Given the description of an element on the screen output the (x, y) to click on. 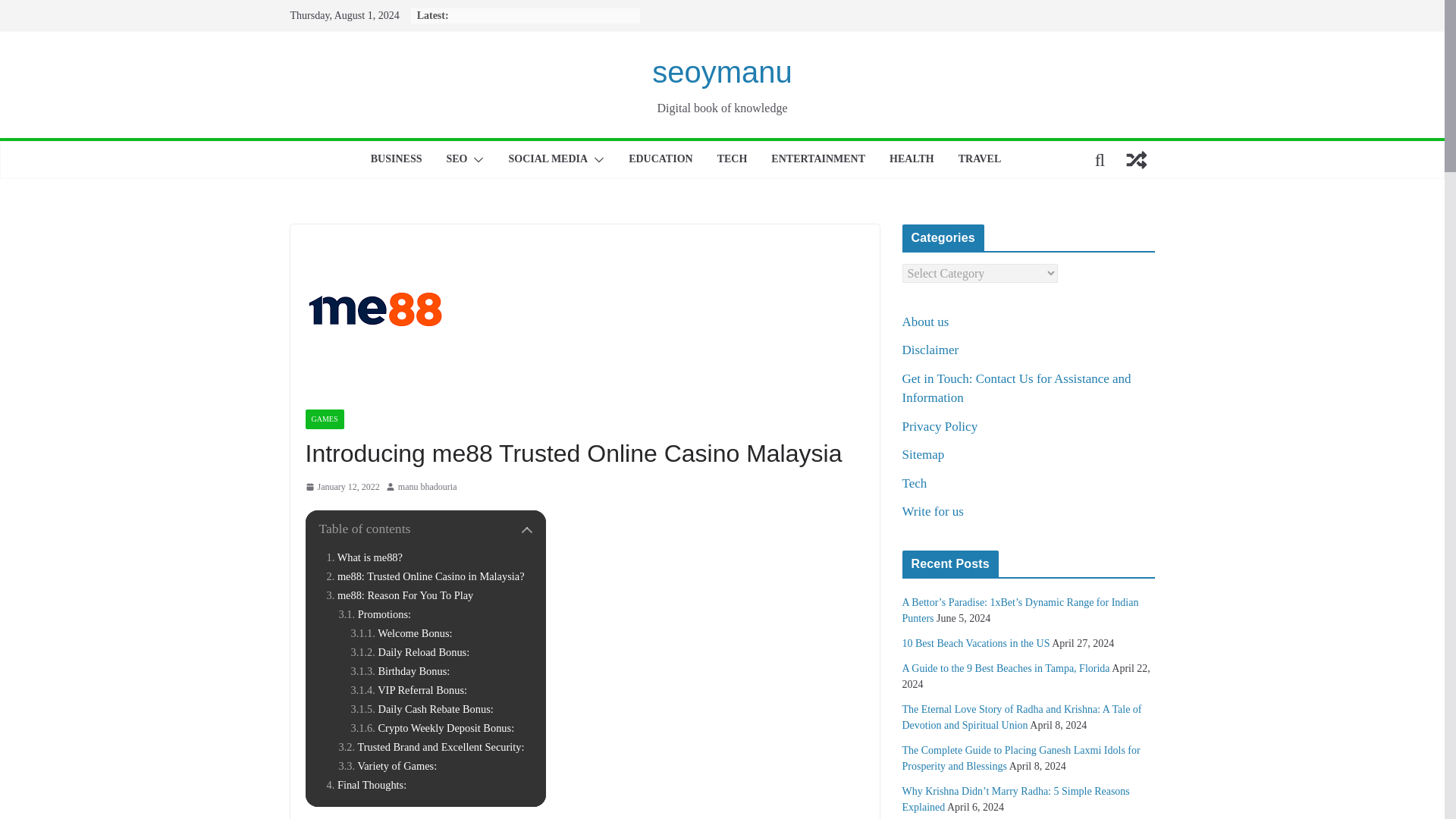
BUSINESS (396, 159)
me88: Reason For You To Play (399, 594)
HEALTH (911, 159)
Introducing me88 Trusted Online Casino Malaysia 1 (374, 308)
TECH (732, 159)
Welcome Bonus: (400, 633)
Birthday Bonus: (399, 671)
January 12, 2022 (341, 487)
manu bhadouria (427, 487)
me88: Reason For You To Play (399, 594)
